Given the description of an element on the screen output the (x, y) to click on. 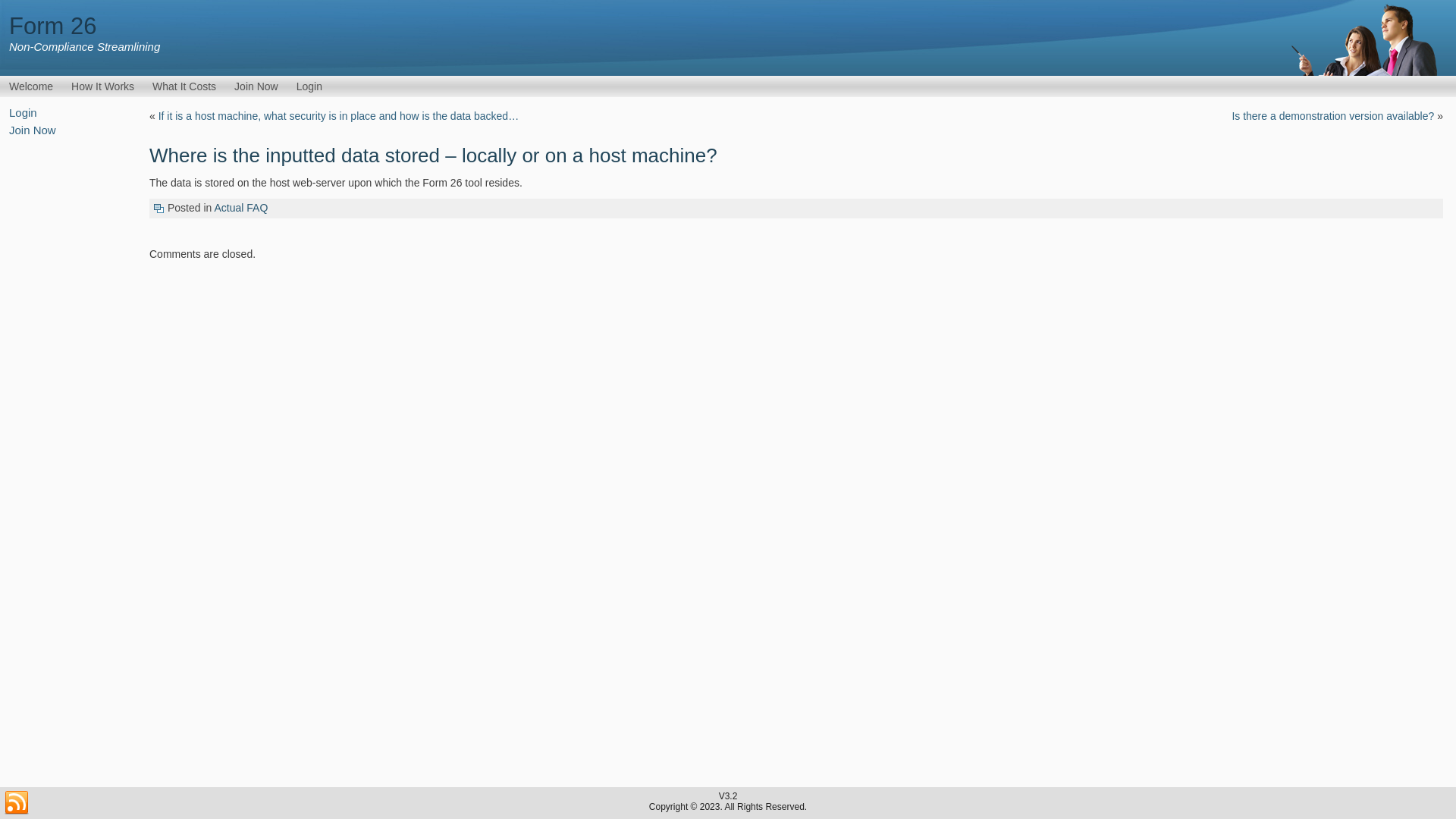
Login Element type: text (309, 86)
What It Costs Element type: text (184, 86)
Is there a demonstration version available? Element type: text (1332, 115)
Actual FAQ Element type: text (240, 207)
Form 26 Element type: text (52, 25)
Join Now Element type: text (32, 129)
Welcome Element type: text (31, 86)
Form 26 RSS Feed Element type: hover (16, 802)
Join Now Element type: text (256, 86)
Login Element type: text (23, 112)
How It Works Element type: text (102, 86)
